Given the description of an element on the screen output the (x, y) to click on. 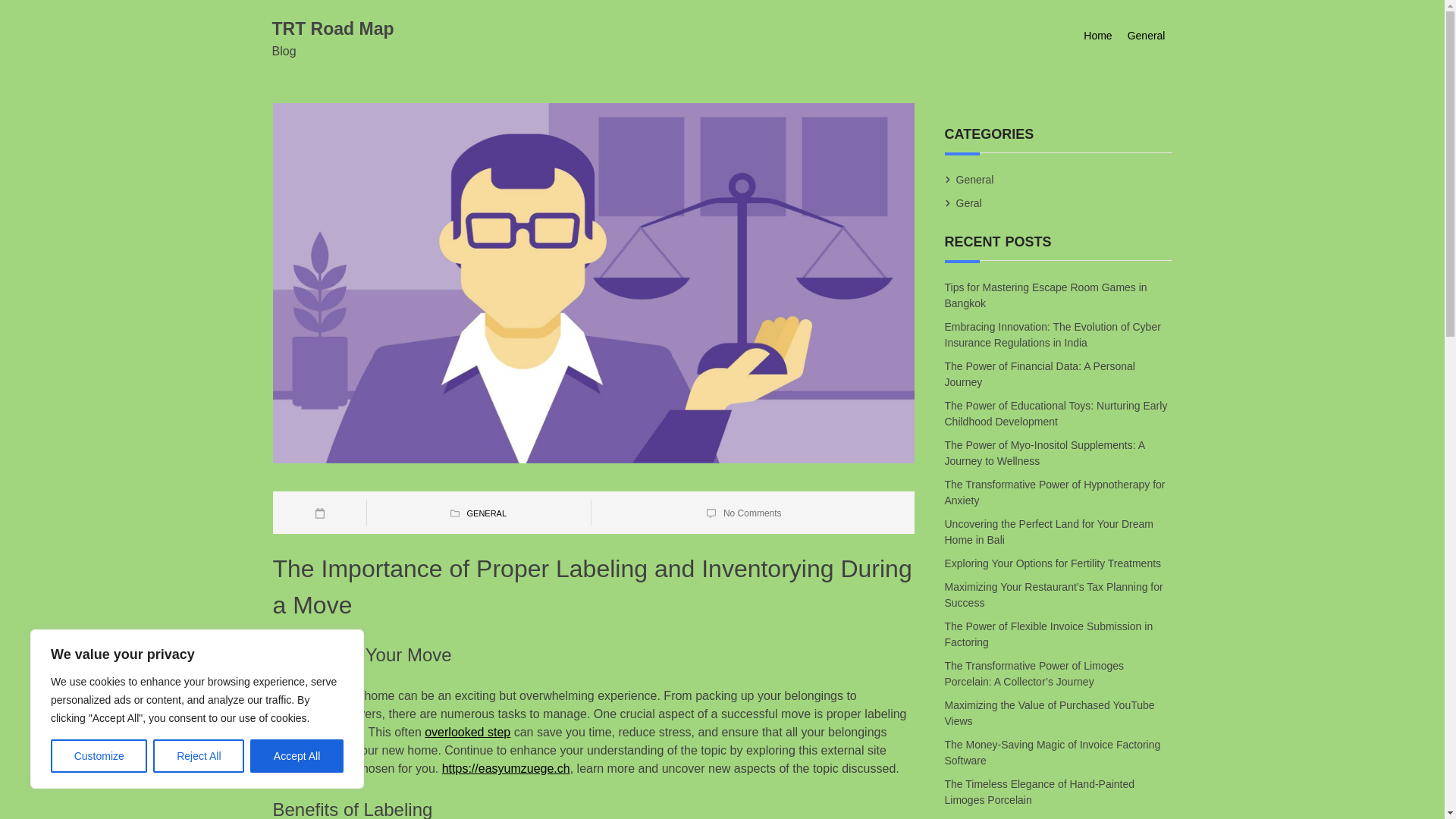
Reject All (198, 756)
Exploring Your Options for Fertility Treatments (1053, 563)
Tips for Mastering Escape Room Games in Bangkok (1045, 295)
TRT Road Map (331, 28)
General (1146, 35)
Geral (968, 203)
GENERAL (485, 512)
overlooked step (468, 731)
The Power of Myo-Inositol Supplements: A Journey to Wellness (1044, 453)
The Transformative Power of Hypnotherapy for Anxiety (1055, 492)
Customize (98, 756)
General (974, 179)
Home (1097, 35)
